Given the description of an element on the screen output the (x, y) to click on. 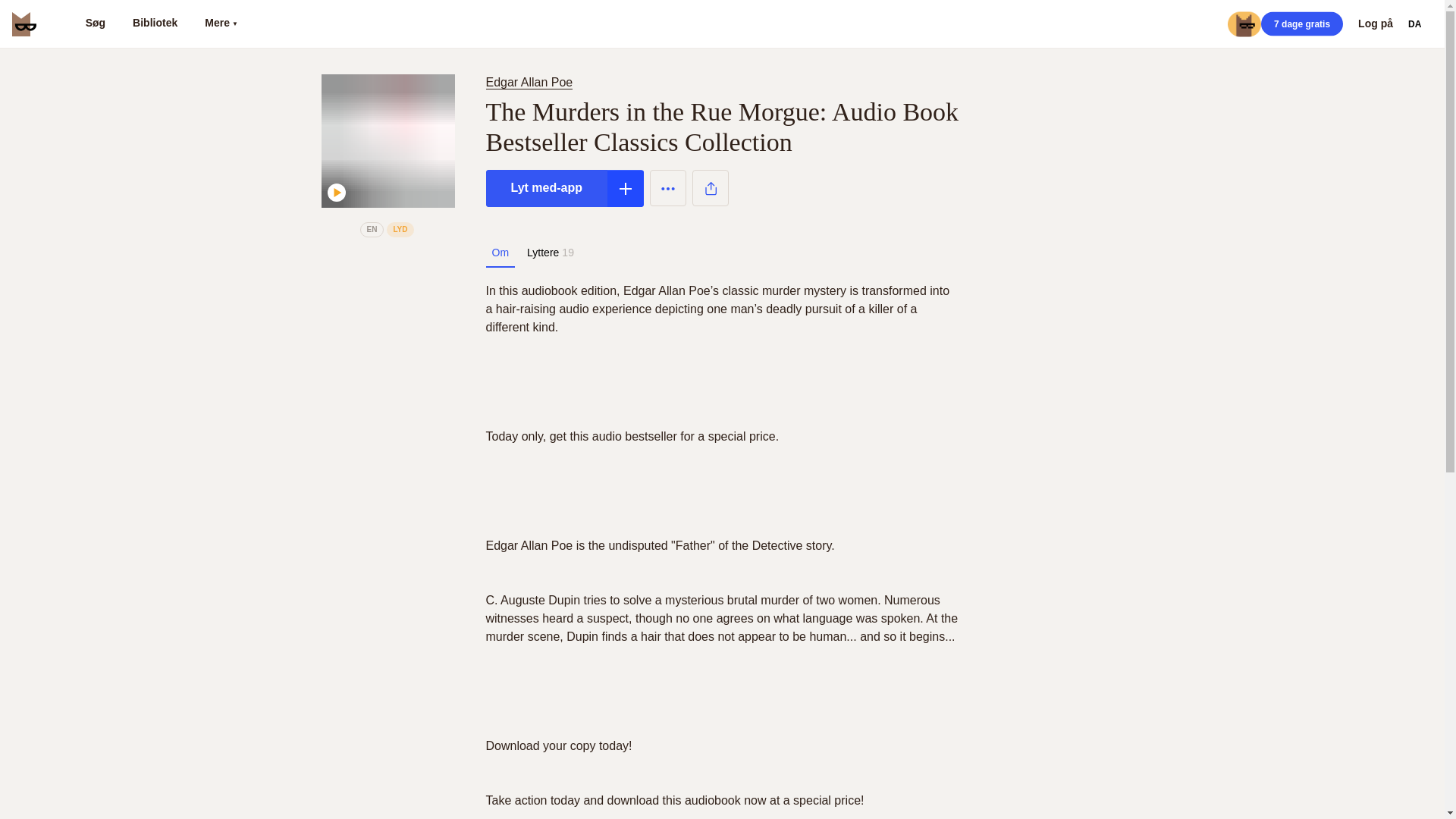
Edgar Allan Poe (528, 82)
7 dage gratis (1301, 23)
Om (499, 252)
Edgar Allan Poe (531, 82)
Bibliotek (155, 24)
